Given the description of an element on the screen output the (x, y) to click on. 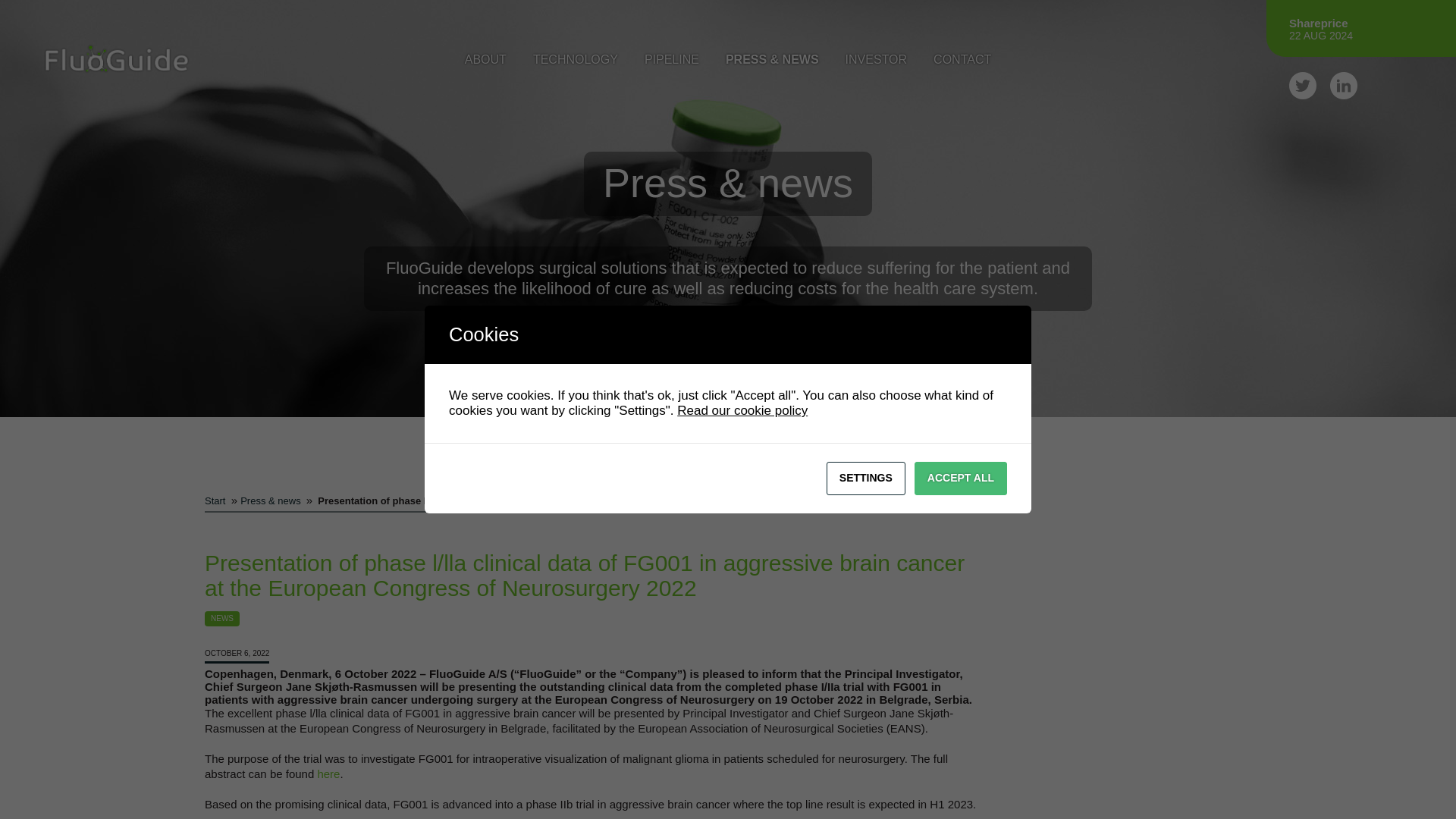
CONTACT (962, 67)
ABOUT (485, 67)
INVESTOR (876, 67)
FluoGuide on Twitter (1302, 85)
FluoGuide - Till startsidan (116, 59)
TECHNOLOGY (574, 67)
PIPELINE (671, 67)
FluoGuide on LinkedIn (1343, 85)
